Given the description of an element on the screen output the (x, y) to click on. 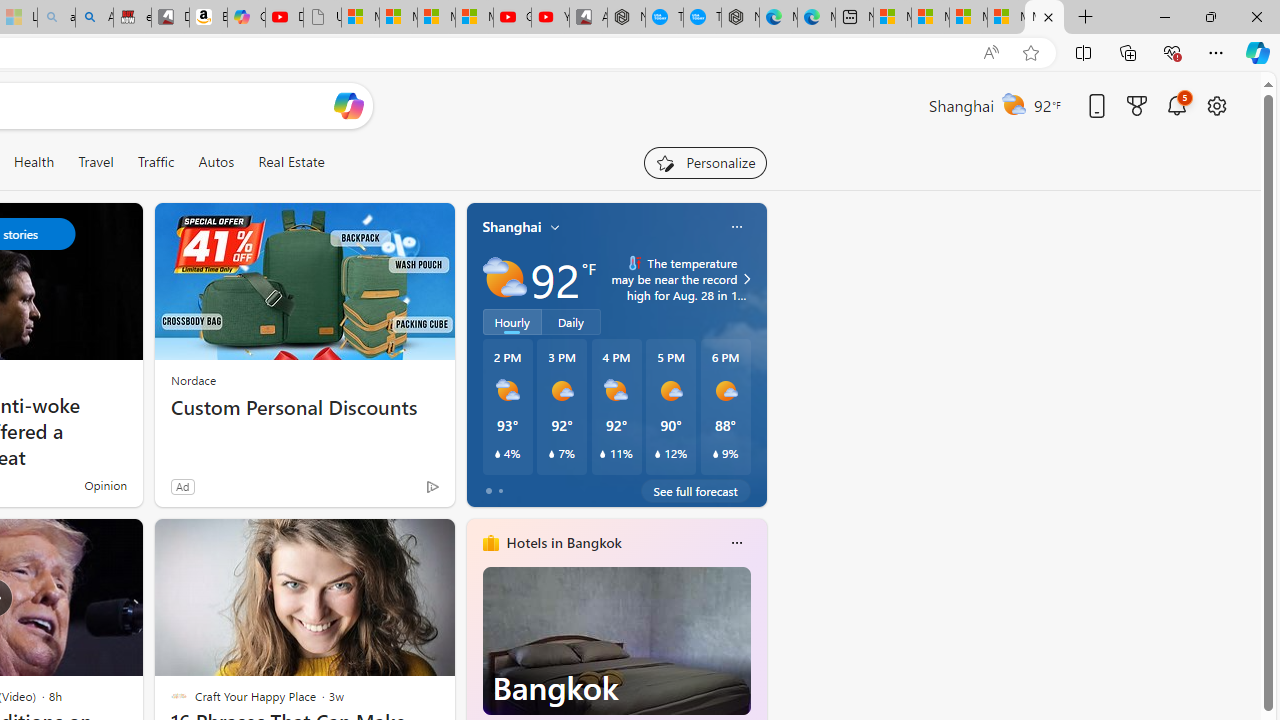
Hotels in Bangkok (563, 543)
Hide this story (393, 542)
Shanghai (511, 227)
next (756, 670)
Untitled (321, 17)
